Given the description of an element on the screen output the (x, y) to click on. 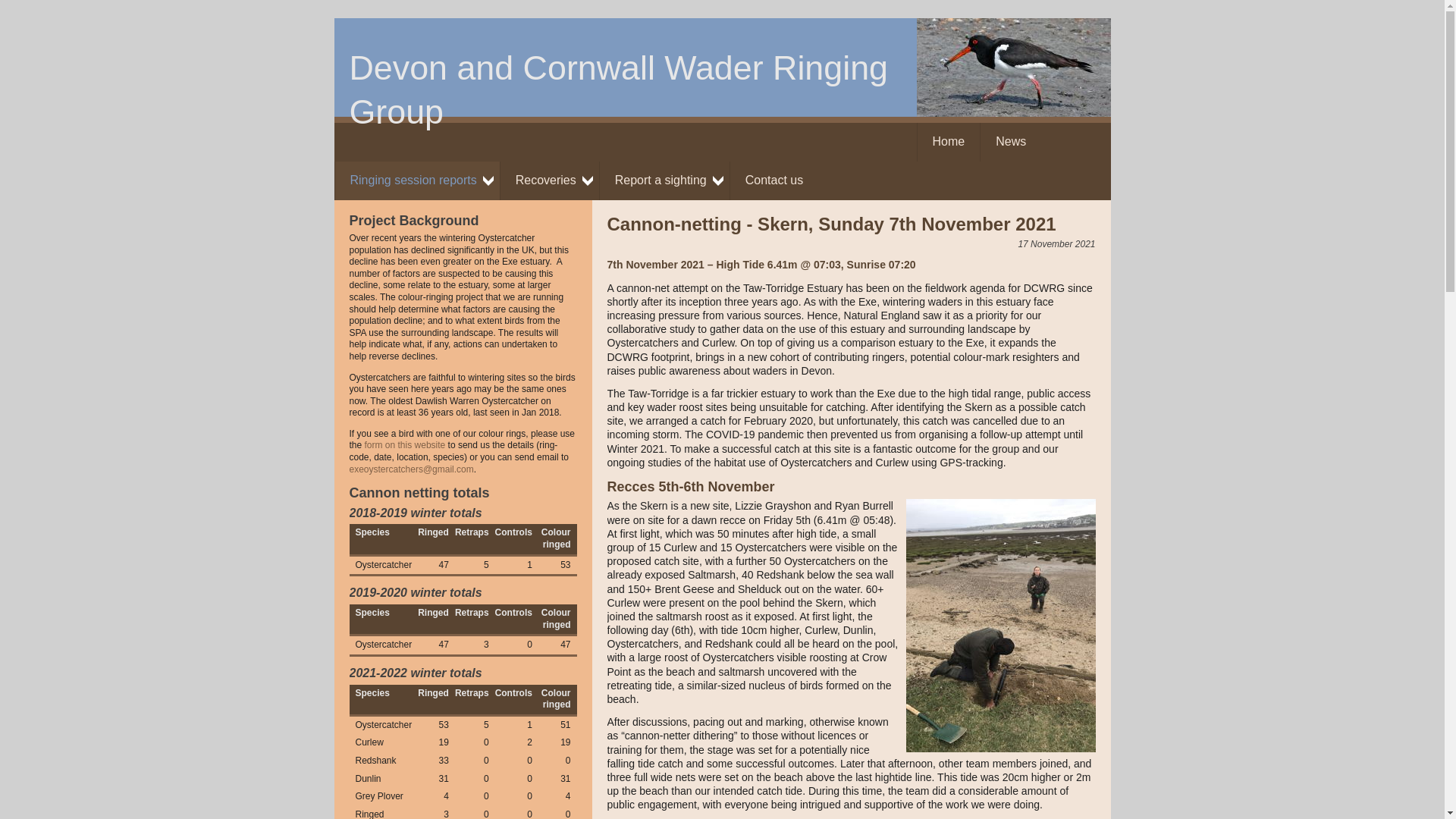
form on this website (416, 180)
